Given the description of an element on the screen output the (x, y) to click on. 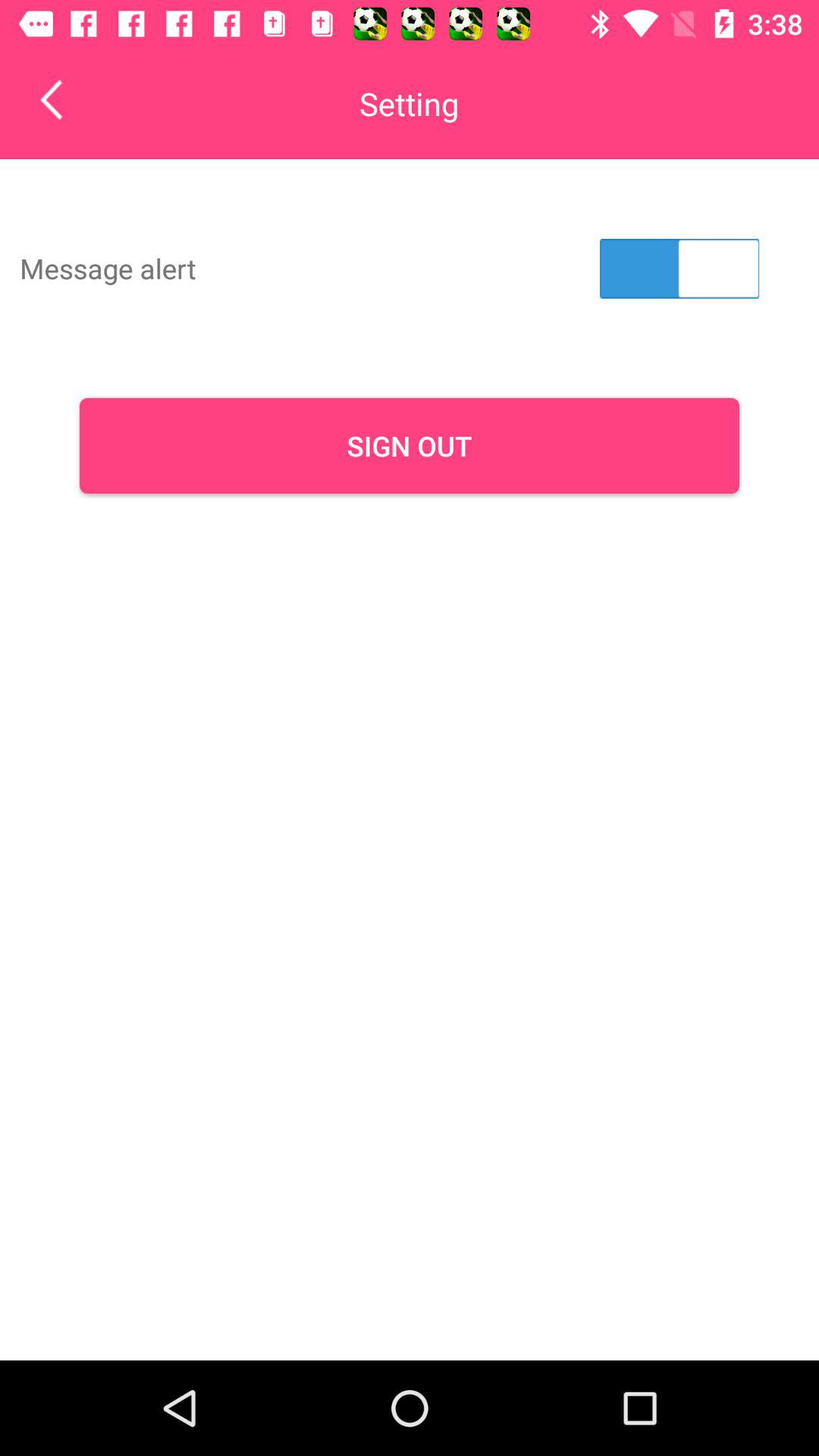
scroll until the sign out item (409, 445)
